Given the description of an element on the screen output the (x, y) to click on. 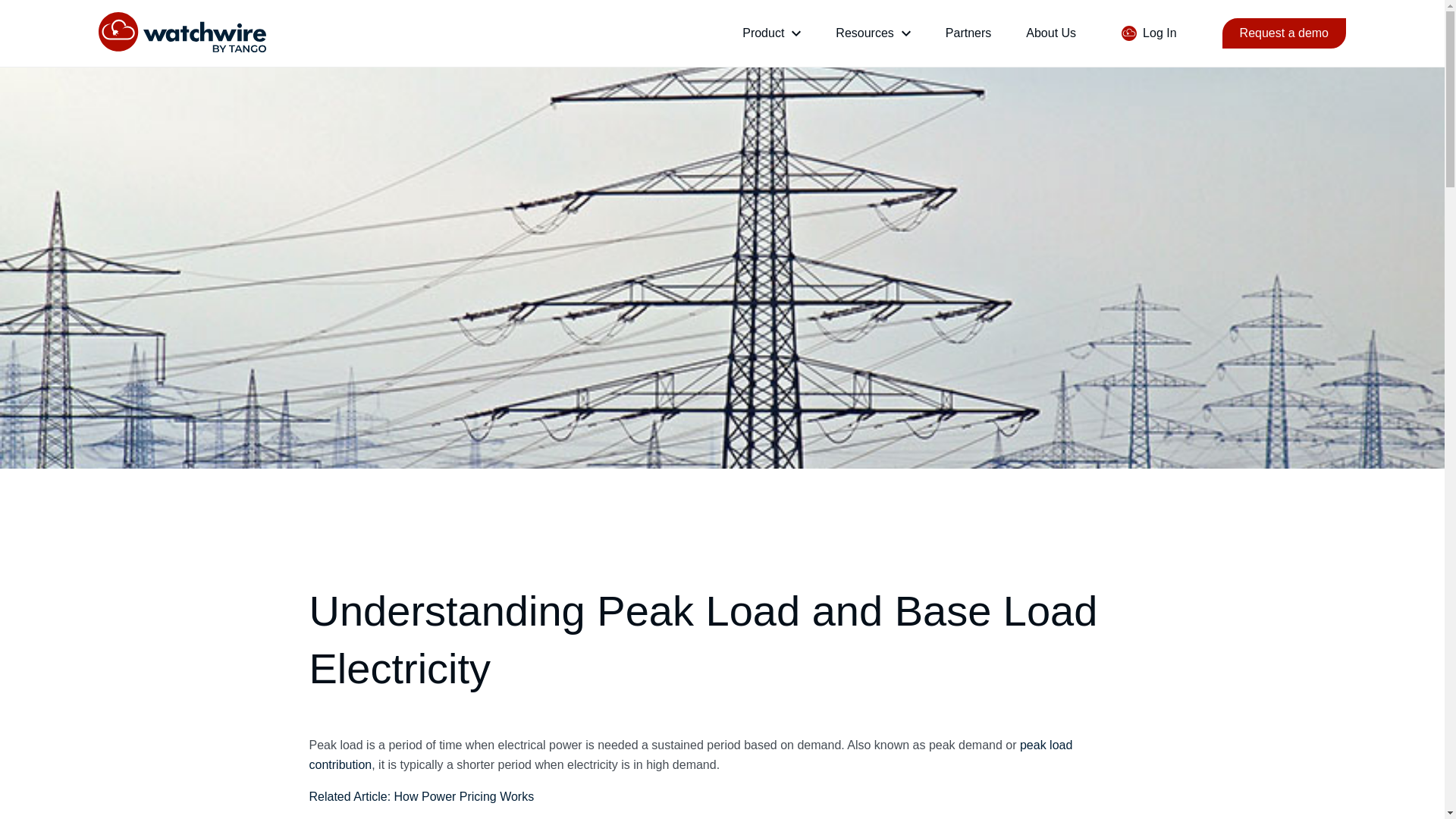
About Us (1050, 32)
Log In (1148, 33)
Partners (967, 32)
Resources (864, 33)
Product (763, 33)
Request a demo (1284, 33)
